Given the description of an element on the screen output the (x, y) to click on. 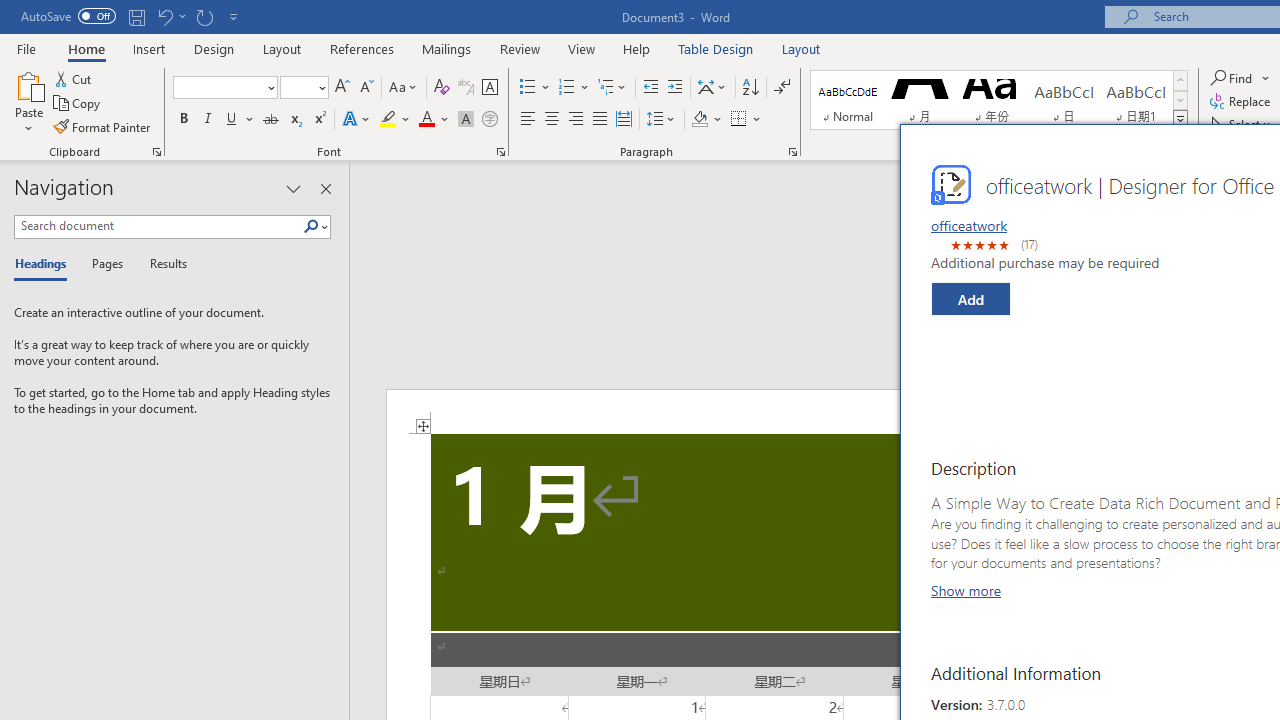
Font Color RGB(255, 0, 0) (426, 119)
Undo Grow Font (170, 15)
